Given the description of an element on the screen output the (x, y) to click on. 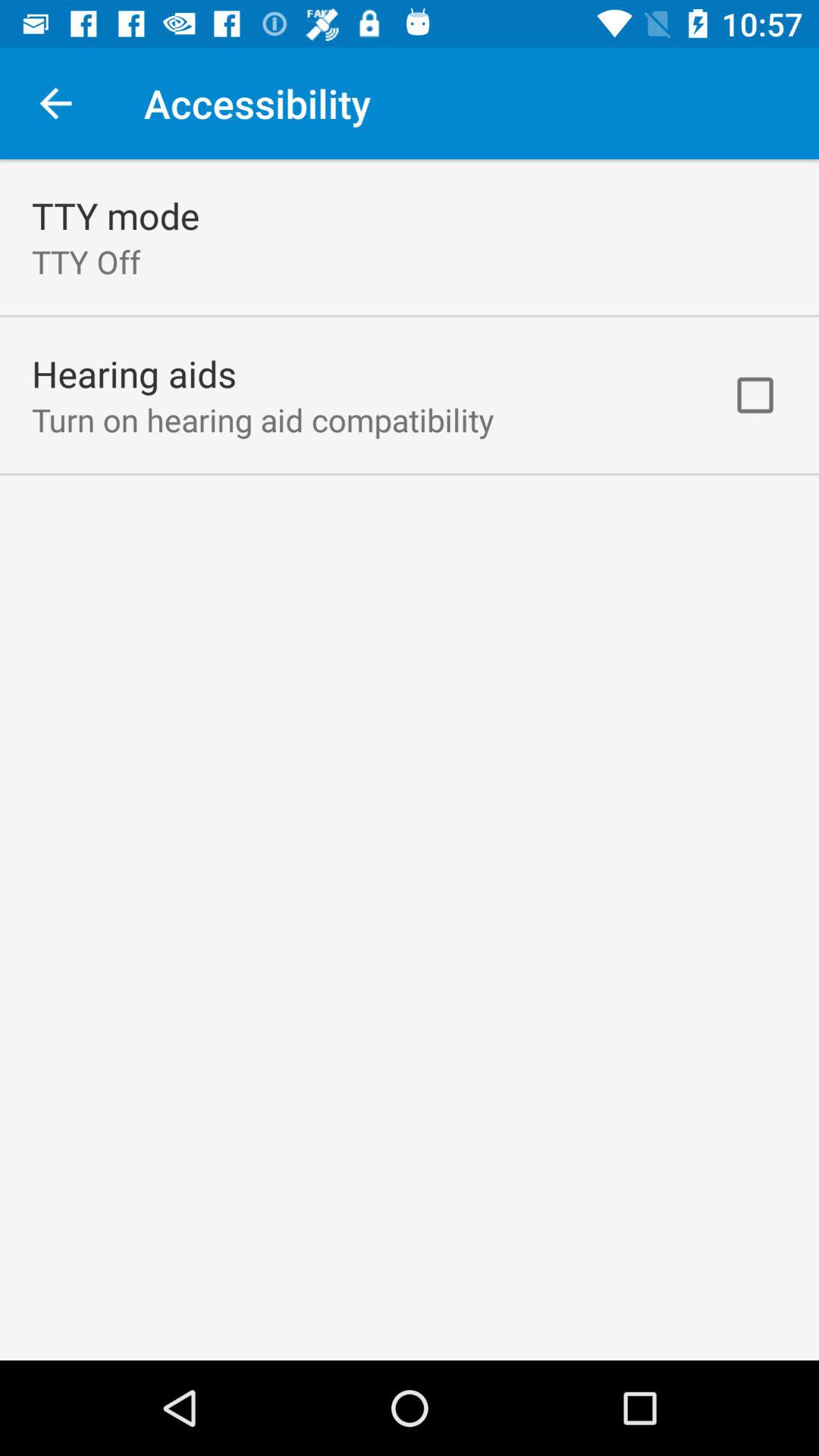
choose item below tty off app (133, 373)
